Given the description of an element on the screen output the (x, y) to click on. 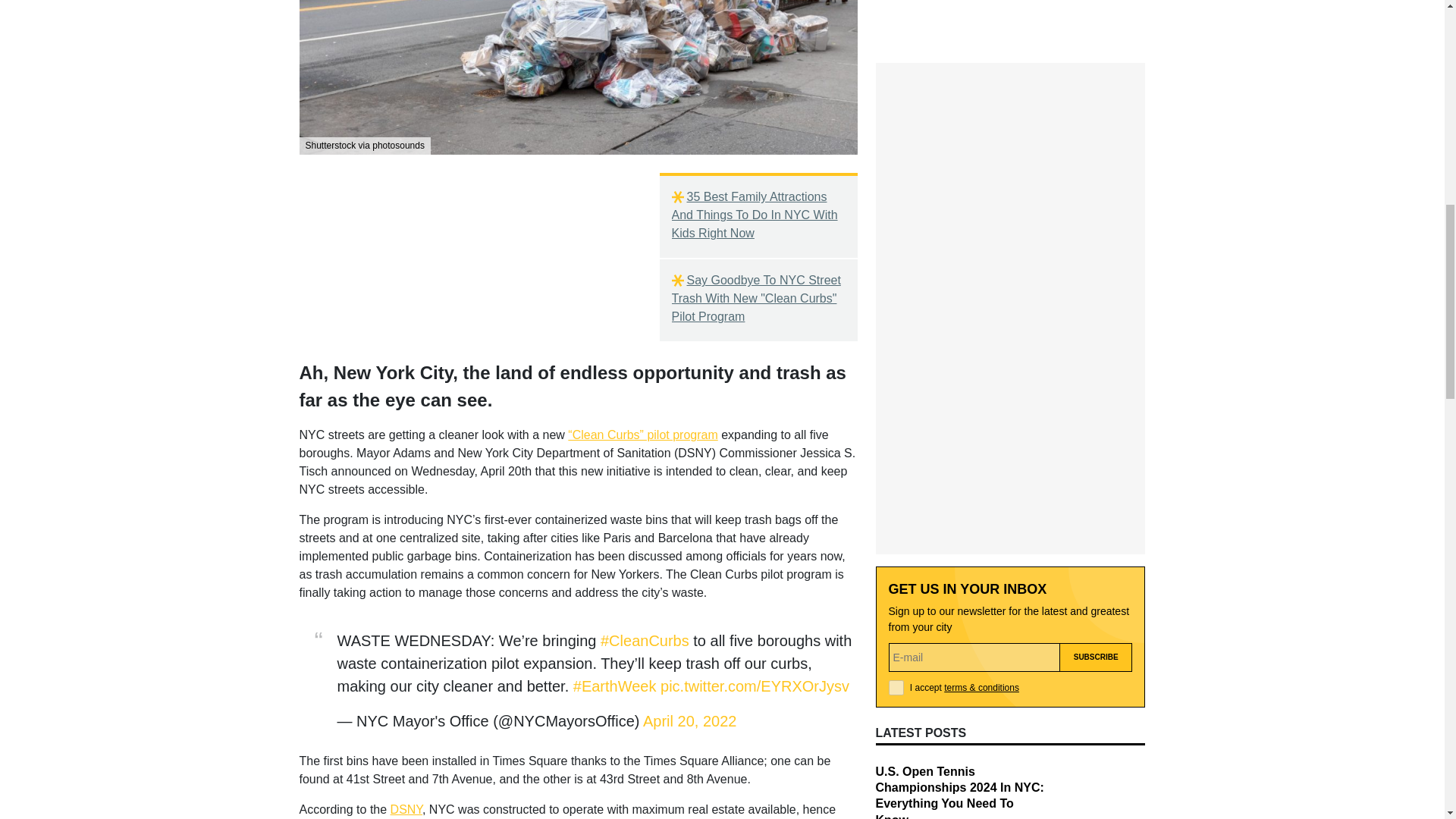
1 (896, 407)
DSNY (406, 809)
April 20, 2022 (689, 720)
Subscribe (1095, 377)
Subscribe (1095, 377)
